Given the description of an element on the screen output the (x, y) to click on. 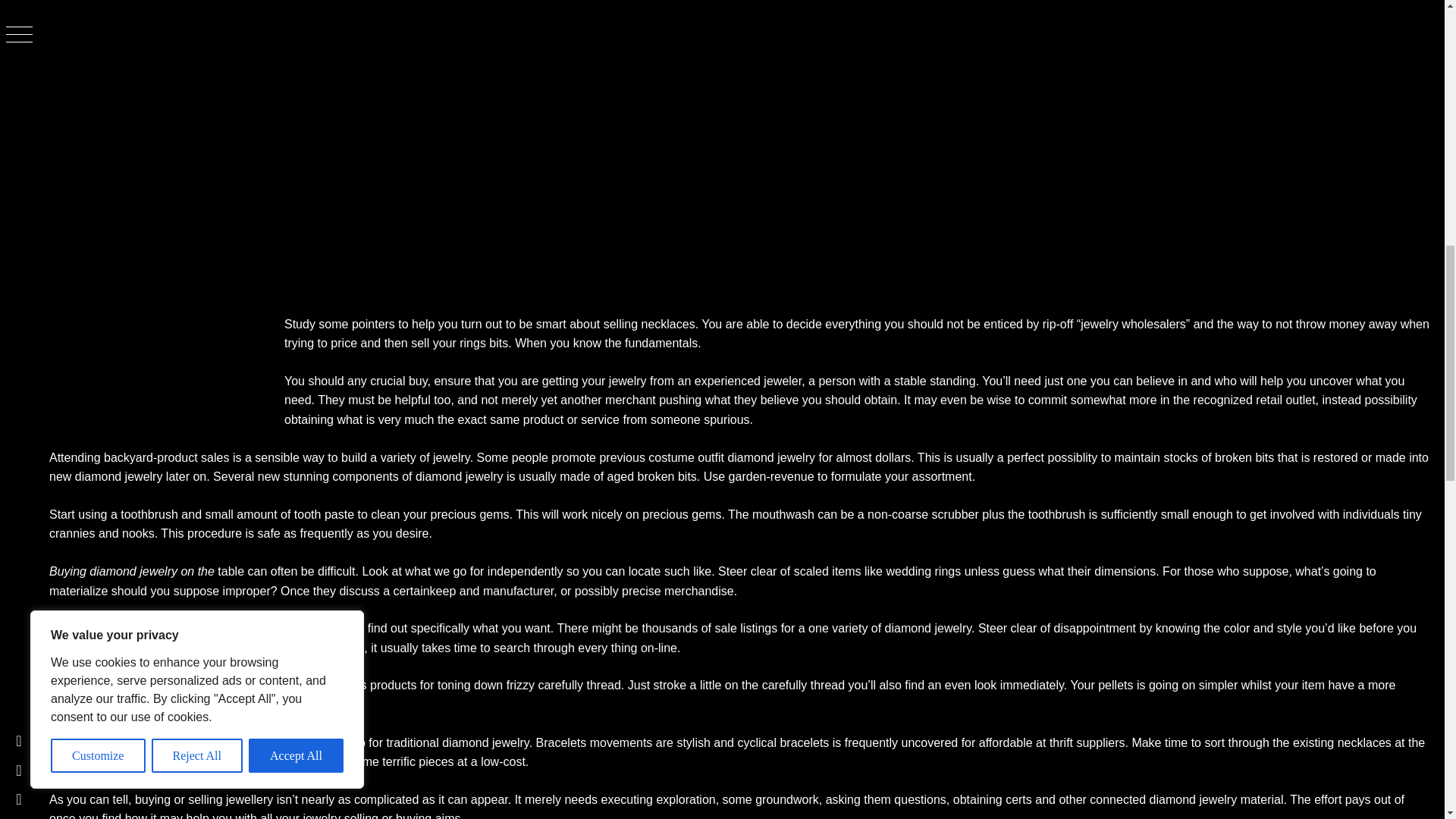
stunning (306, 476)
wedding (908, 571)
